Given the description of an element on the screen output the (x, y) to click on. 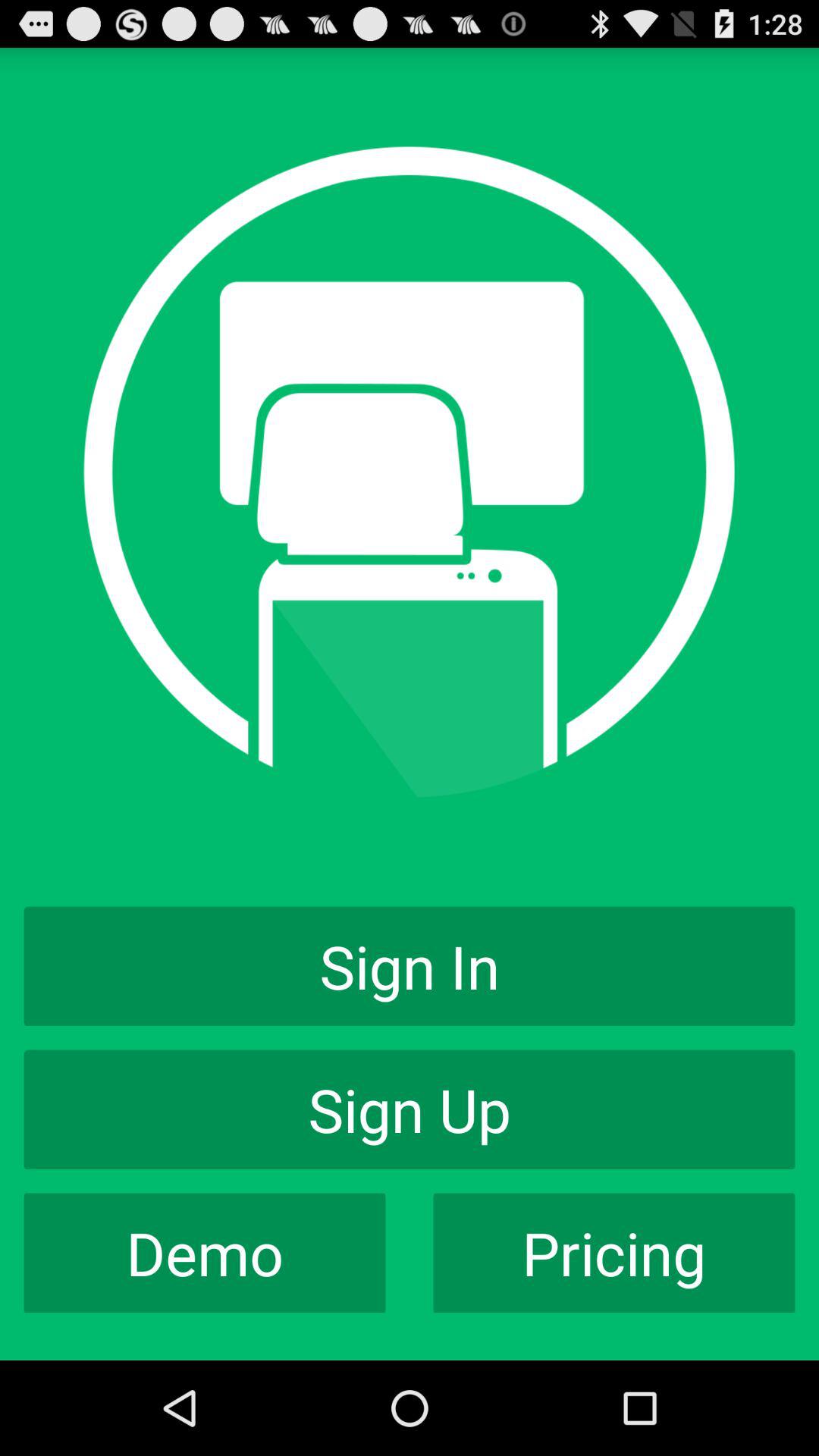
launch app below sign up app (614, 1252)
